Given the description of an element on the screen output the (x, y) to click on. 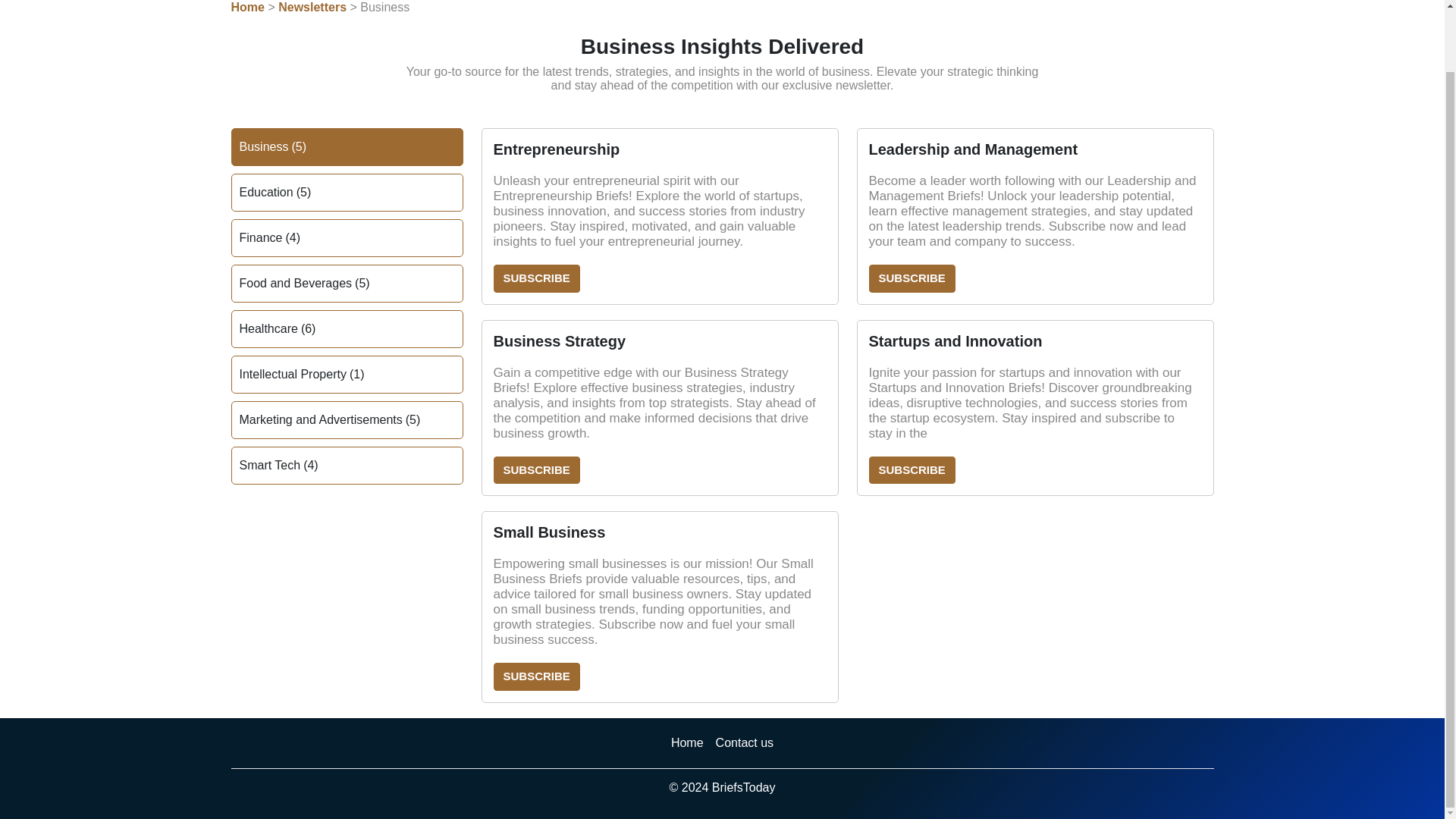
SUBSCRIBE (912, 470)
Home (246, 6)
SUBSCRIBE (536, 278)
SUBSCRIBE (536, 470)
SUBSCRIBE (536, 676)
Newsletters (312, 6)
SUBSCRIBE (912, 278)
Contact us (744, 742)
Home (687, 742)
